Given the description of an element on the screen output the (x, y) to click on. 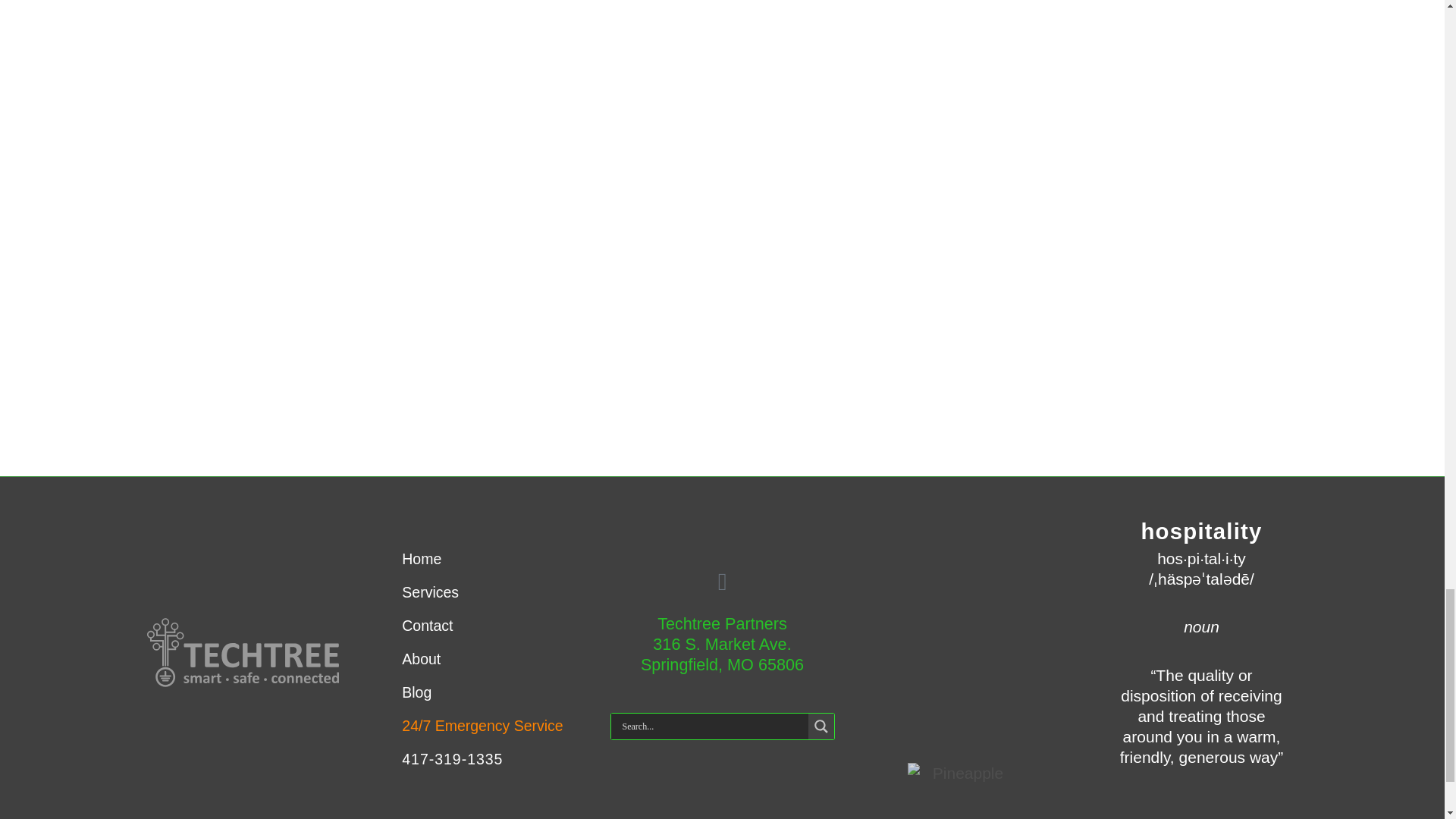
Pineapple (961, 772)
